Given the description of an element on the screen output the (x, y) to click on. 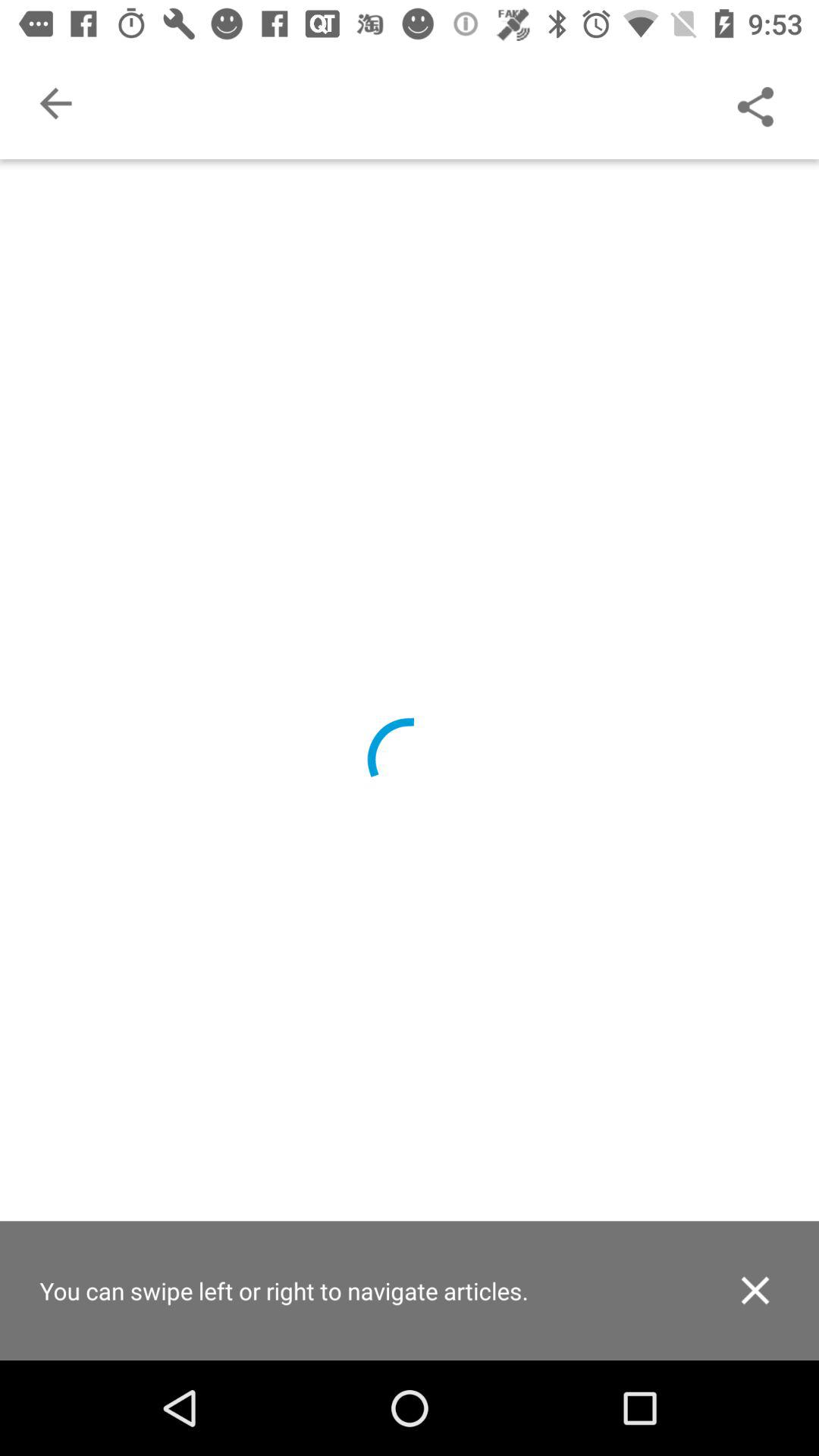
click icon at the bottom right corner (755, 1290)
